Given the description of an element on the screen output the (x, y) to click on. 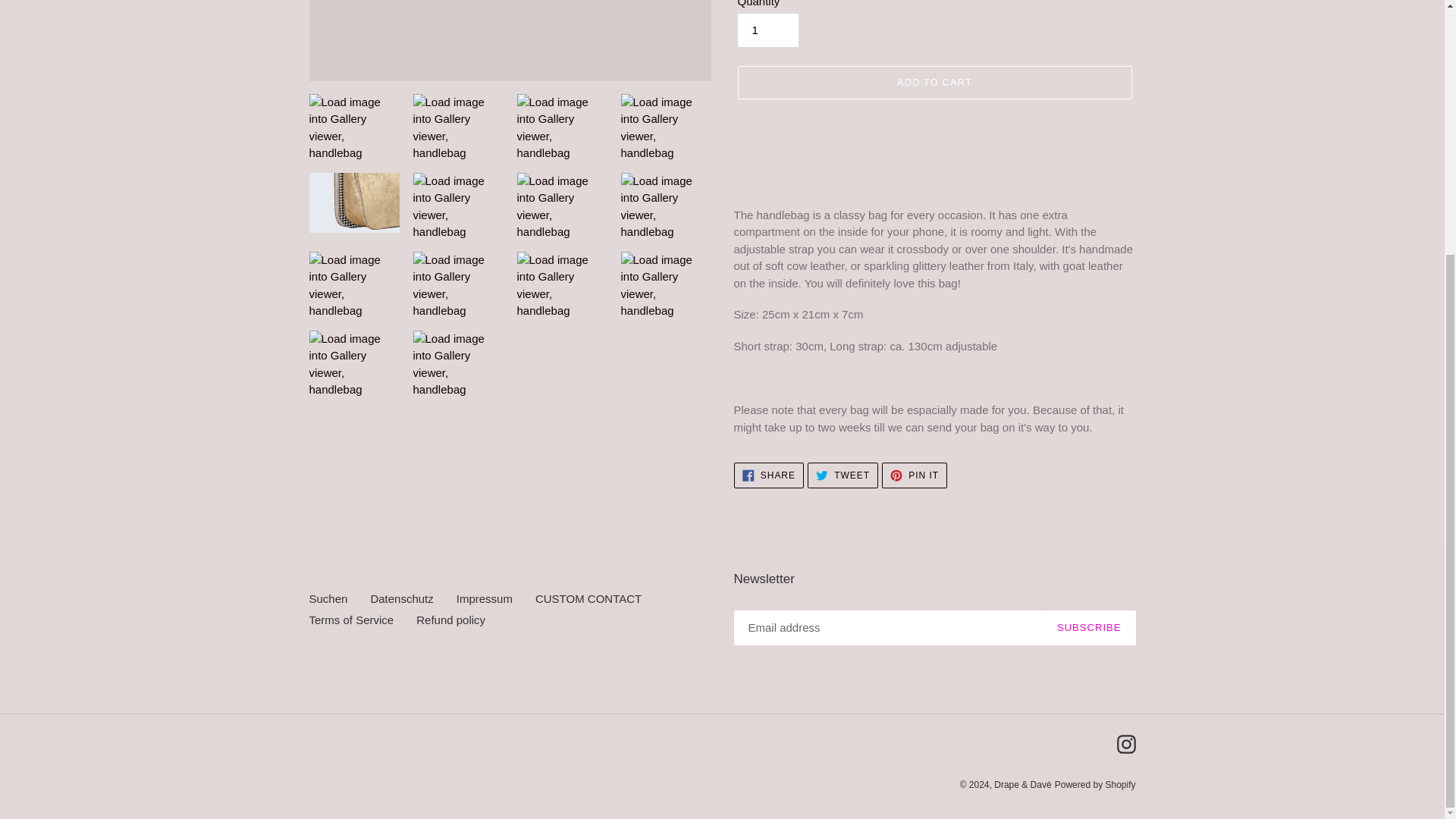
1 (766, 29)
